Given the description of an element on the screen output the (x, y) to click on. 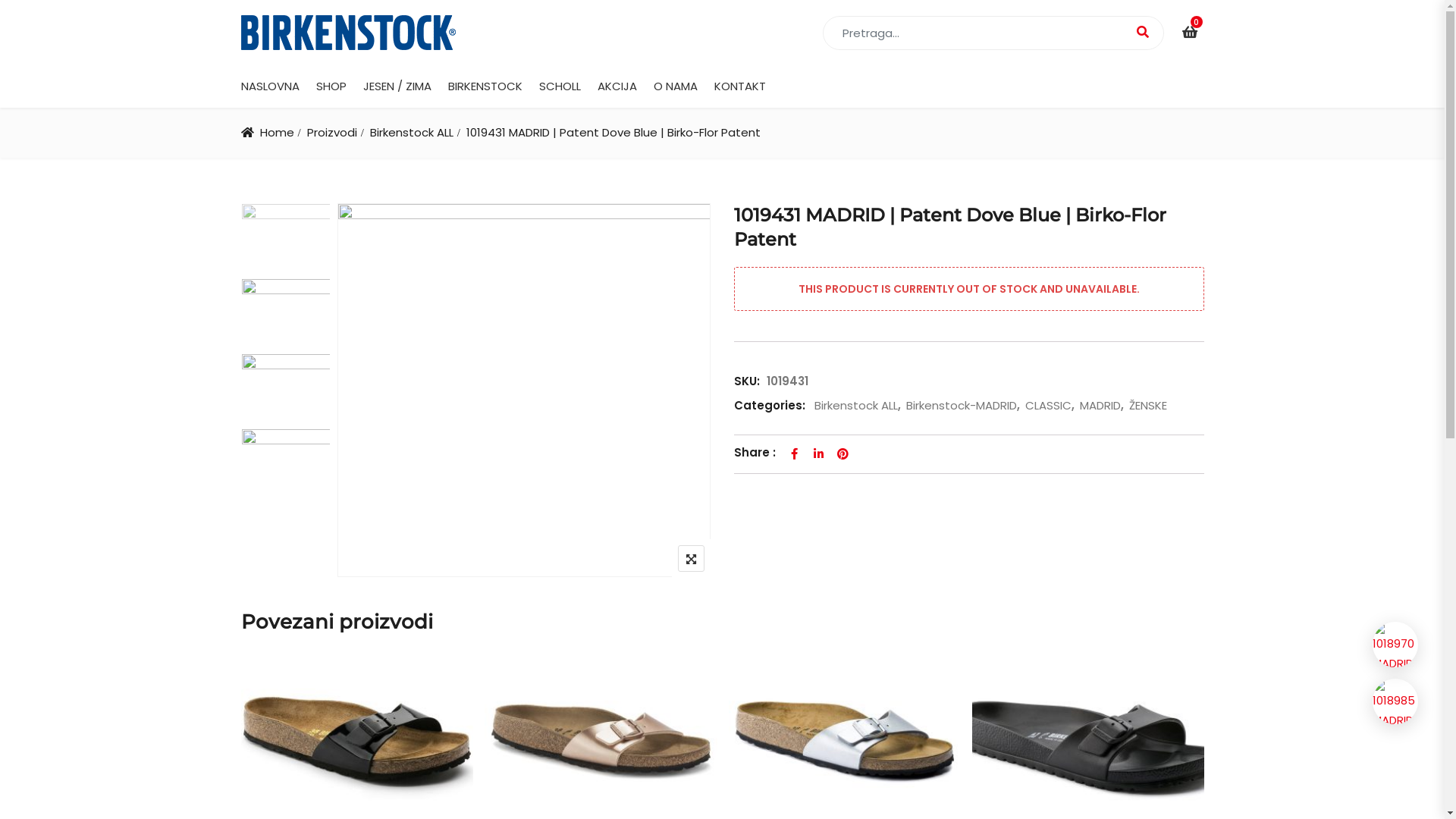
BIRKENSTOCK Element type: text (484, 86)
Birkenstock ALL Element type: text (854, 405)
Home Element type: text (276, 132)
SCHOLL Element type: text (559, 86)
NASLOVNA Element type: text (270, 86)
0 Element type: text (1188, 32)
Birkenstock-MADRID Element type: text (959, 405)
Proizvodi Element type: text (332, 132)
SHOP Element type: text (330, 86)
JESEN / ZIMA Element type: text (396, 86)
haupt_2828070014 Element type: hover (524, 389)
haupt_2828070014 Element type: hover (285, 387)
1019431_f_closeup_f-1155x1155 Element type: hover (285, 462)
0000207998377_05_rz Element type: hover (285, 312)
Birkenstock ALL Element type: text (411, 132)
haupt_2828070014 Element type: hover (285, 236)
MADRID Element type: text (1098, 405)
CLASSIC Element type: text (1046, 405)
AKCIJA Element type: text (617, 86)
KONTAKT Element type: text (739, 86)
O NAMA Element type: text (675, 86)
